Given the description of an element on the screen output the (x, y) to click on. 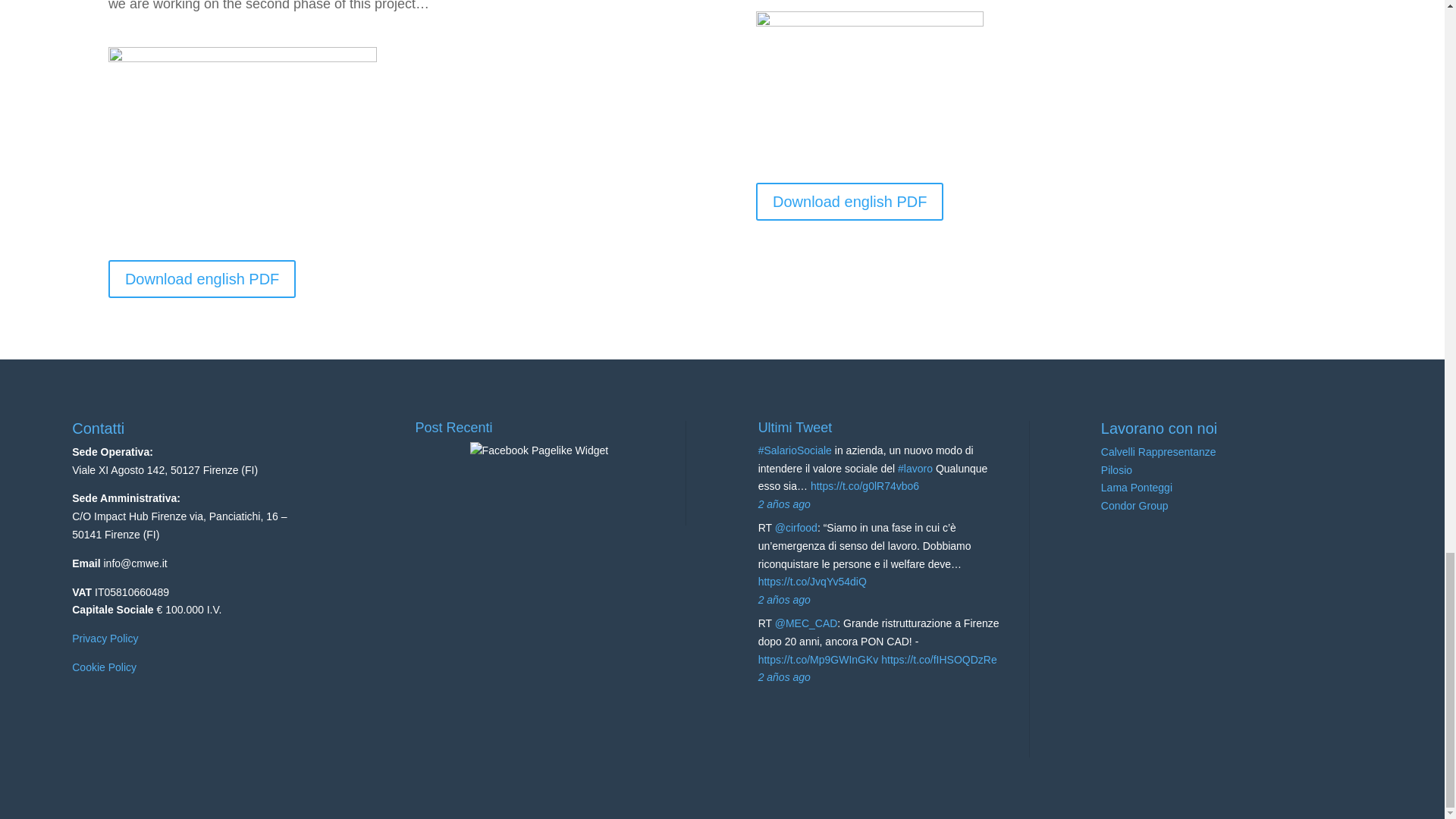
Cookie Policy (103, 666)
Download english PDF (201, 279)
Privacy Policy (104, 638)
Download english PDF (849, 201)
